Given the description of an element on the screen output the (x, y) to click on. 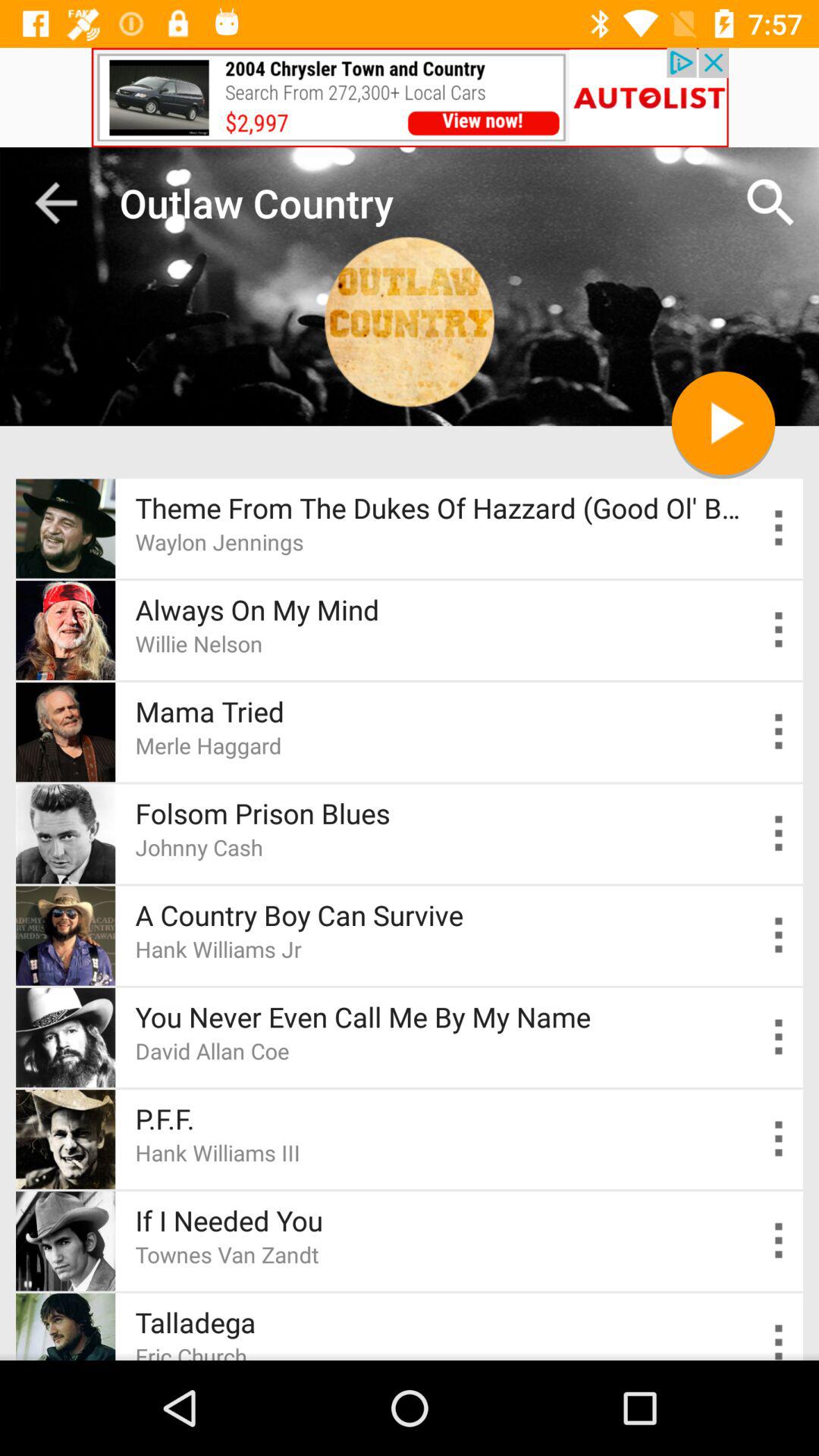
to see other options (779, 630)
